Given the description of an element on the screen output the (x, y) to click on. 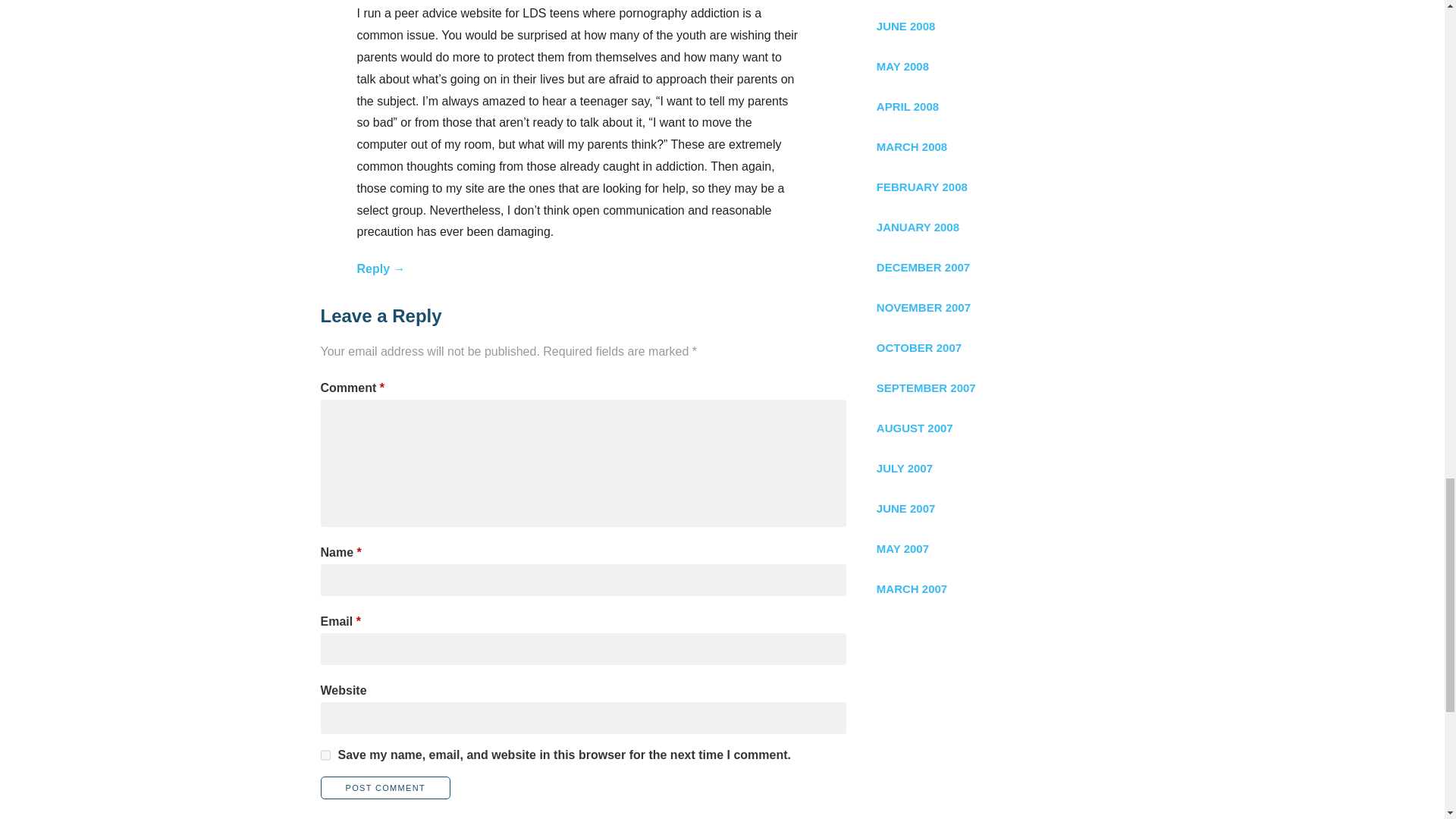
Post Comment (384, 787)
Reply (380, 268)
Post Comment (384, 787)
